Given the description of an element on the screen output the (x, y) to click on. 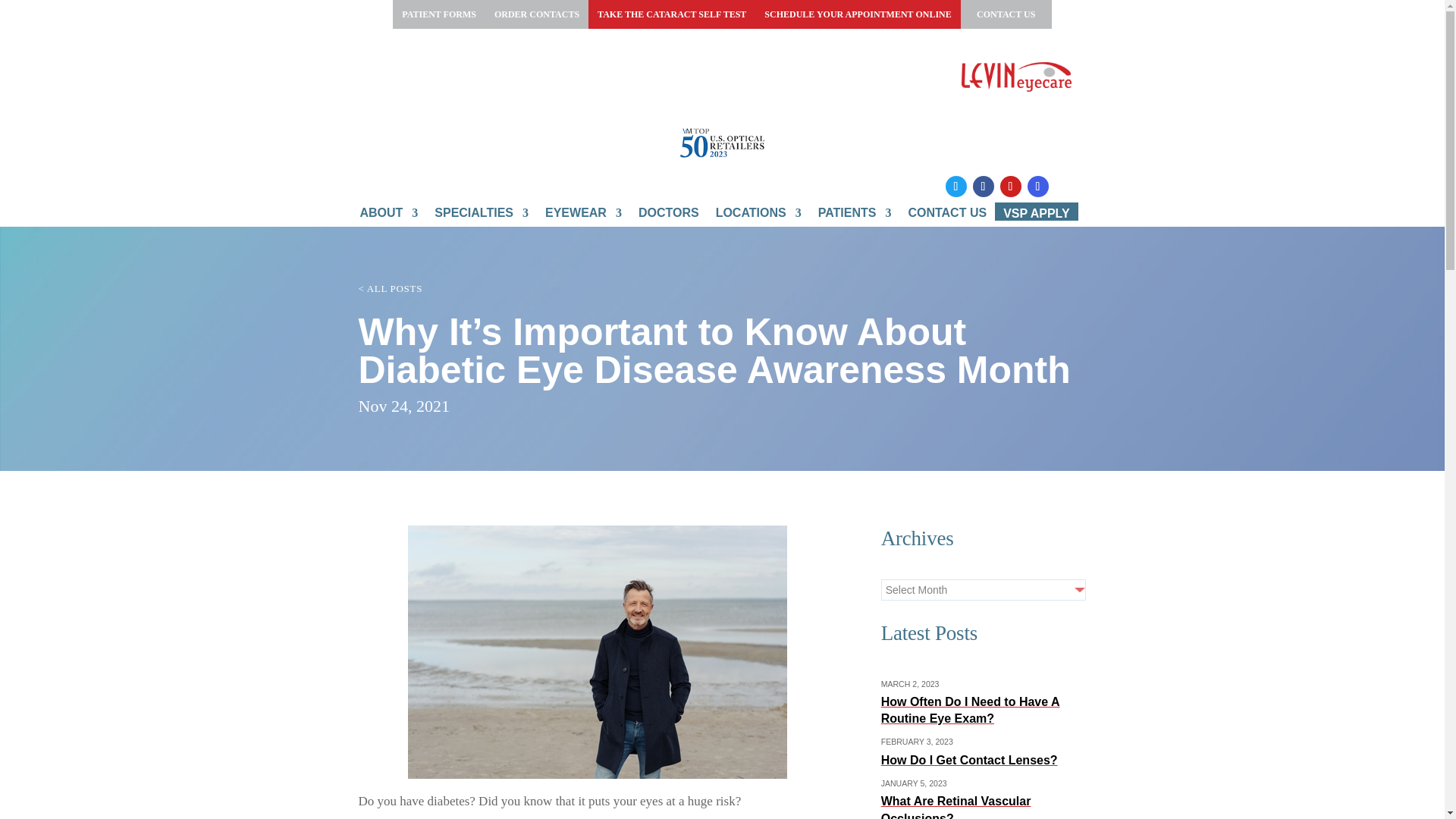
DOCTORS (668, 215)
SPECIALTIES (480, 215)
Follow on Instagram (1037, 186)
ORDER CONTACTS (536, 14)
Follow on Facebook (982, 186)
LOCATIONS (759, 215)
SCHEDULE YOUR APPOINTMENT ONLINE (857, 14)
Follow on X (955, 186)
PATIENT FORMS (438, 14)
Follow on Youtube (1009, 186)
EYEWEAR (582, 215)
TAKE THE CATARACT SELF TEST (671, 14)
ABOUT (388, 215)
CONTACT US (1005, 14)
